Given the description of an element on the screen output the (x, y) to click on. 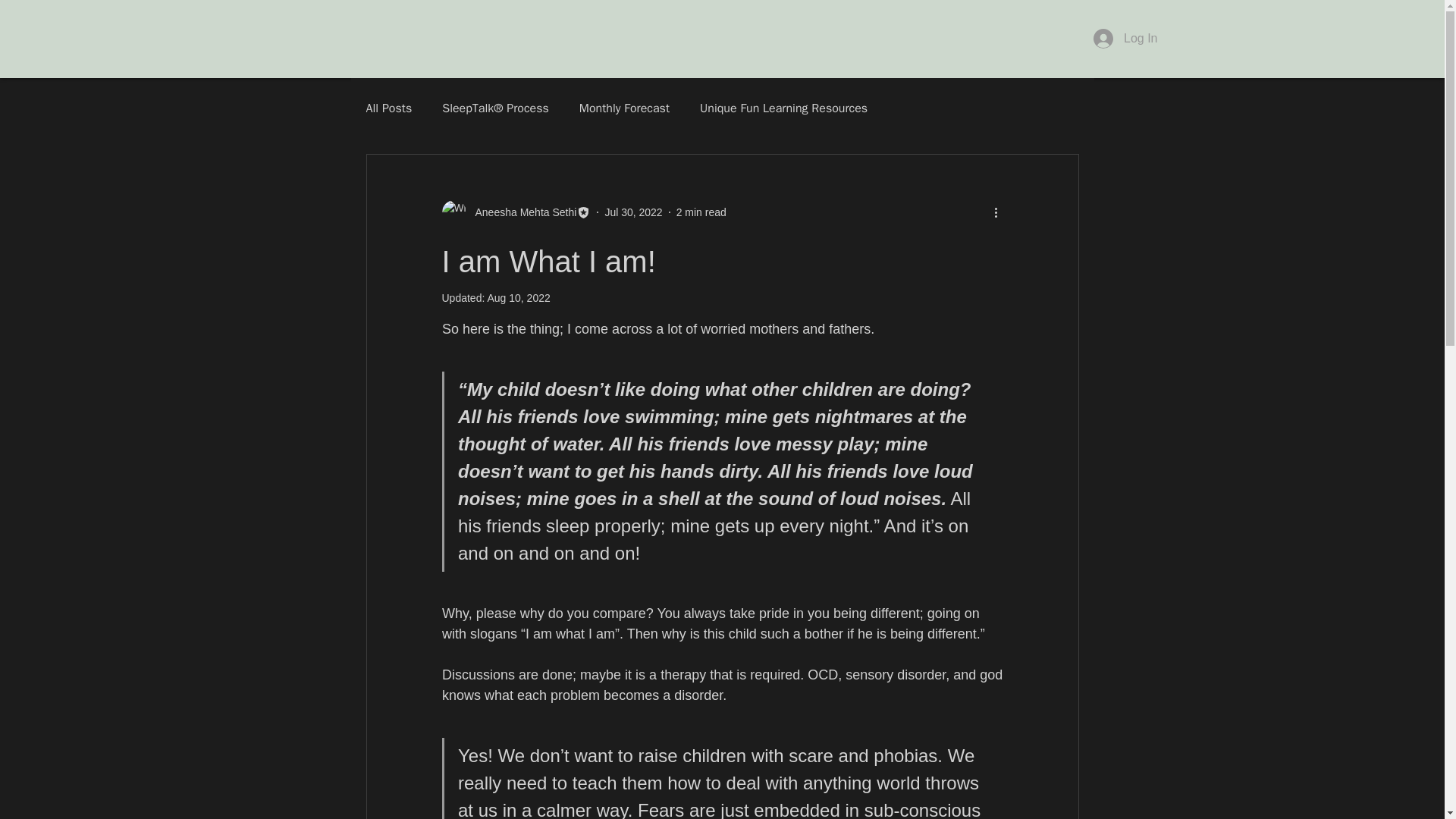
Aneesha Mehta Sethi (516, 211)
Aug 10, 2022 (518, 297)
All Posts (388, 107)
Aneesha Mehta Sethi (520, 212)
Log In (1125, 38)
Jul 30, 2022 (633, 212)
2 min read (701, 212)
Unique Fun Learning Resources (783, 107)
Monthly Forecast (624, 107)
